Given the description of an element on the screen output the (x, y) to click on. 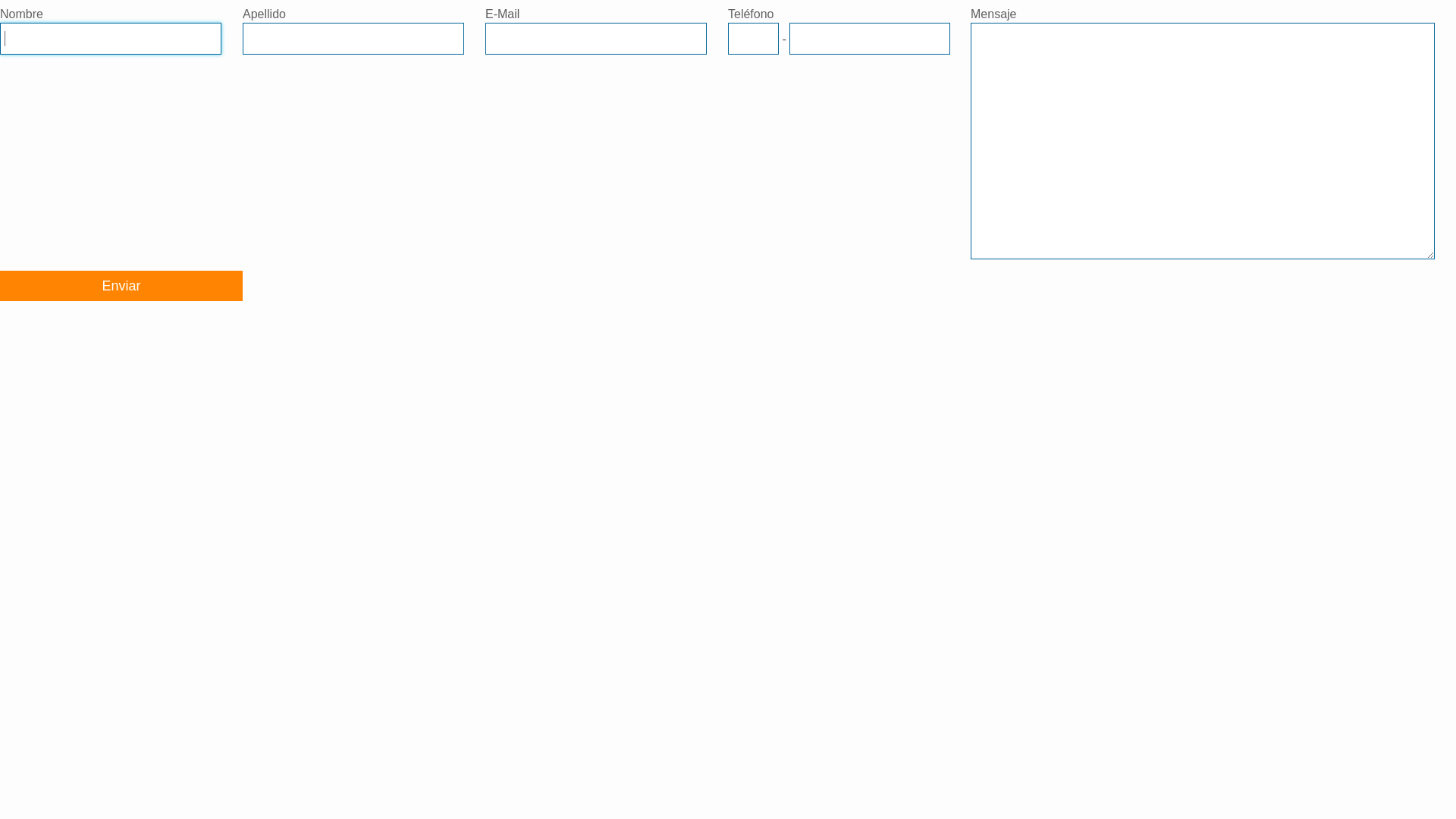
Enviar Element type: text (121, 285)
